Given the description of an element on the screen output the (x, y) to click on. 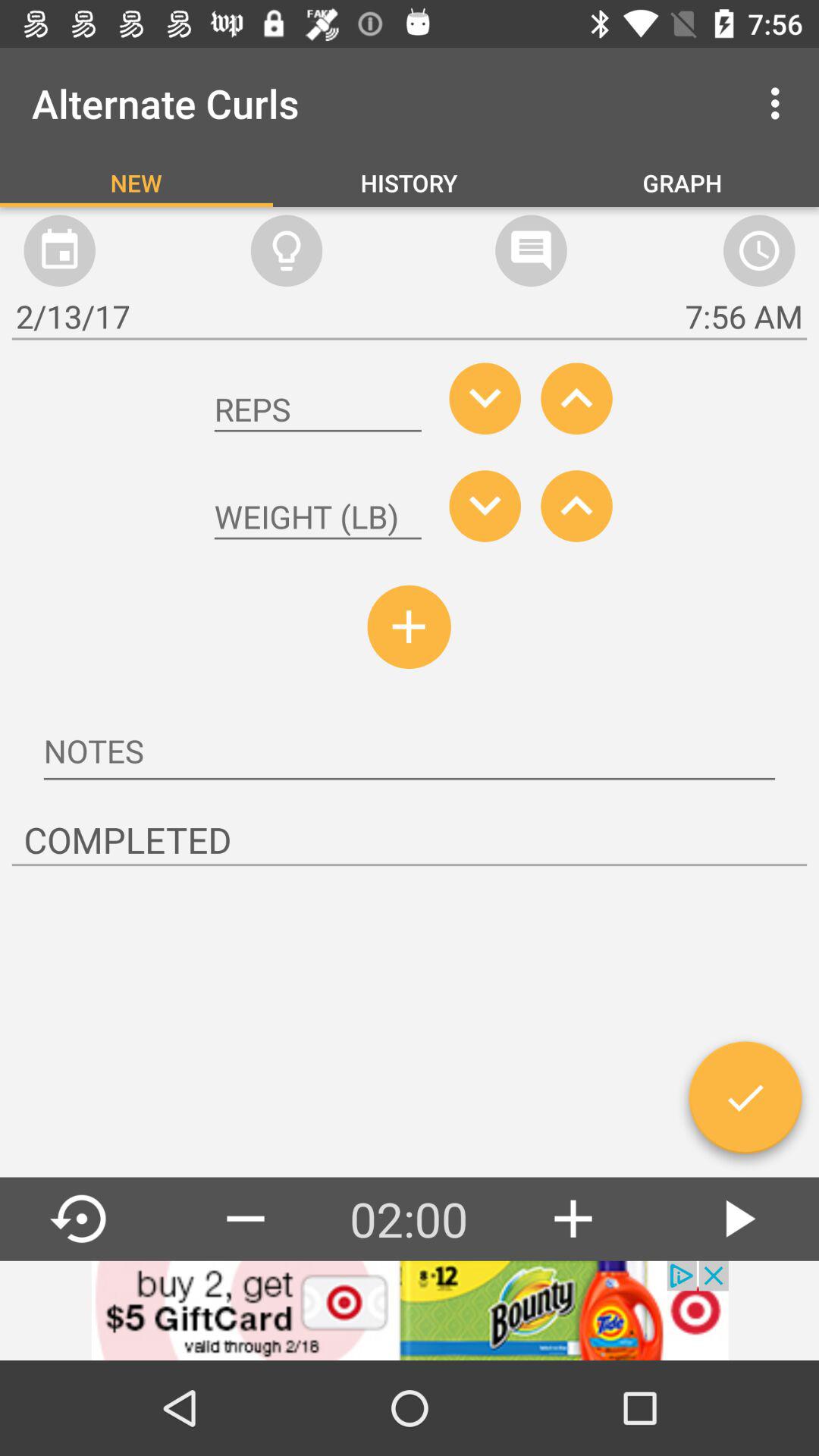
reps box (317, 409)
